Given the description of an element on the screen output the (x, y) to click on. 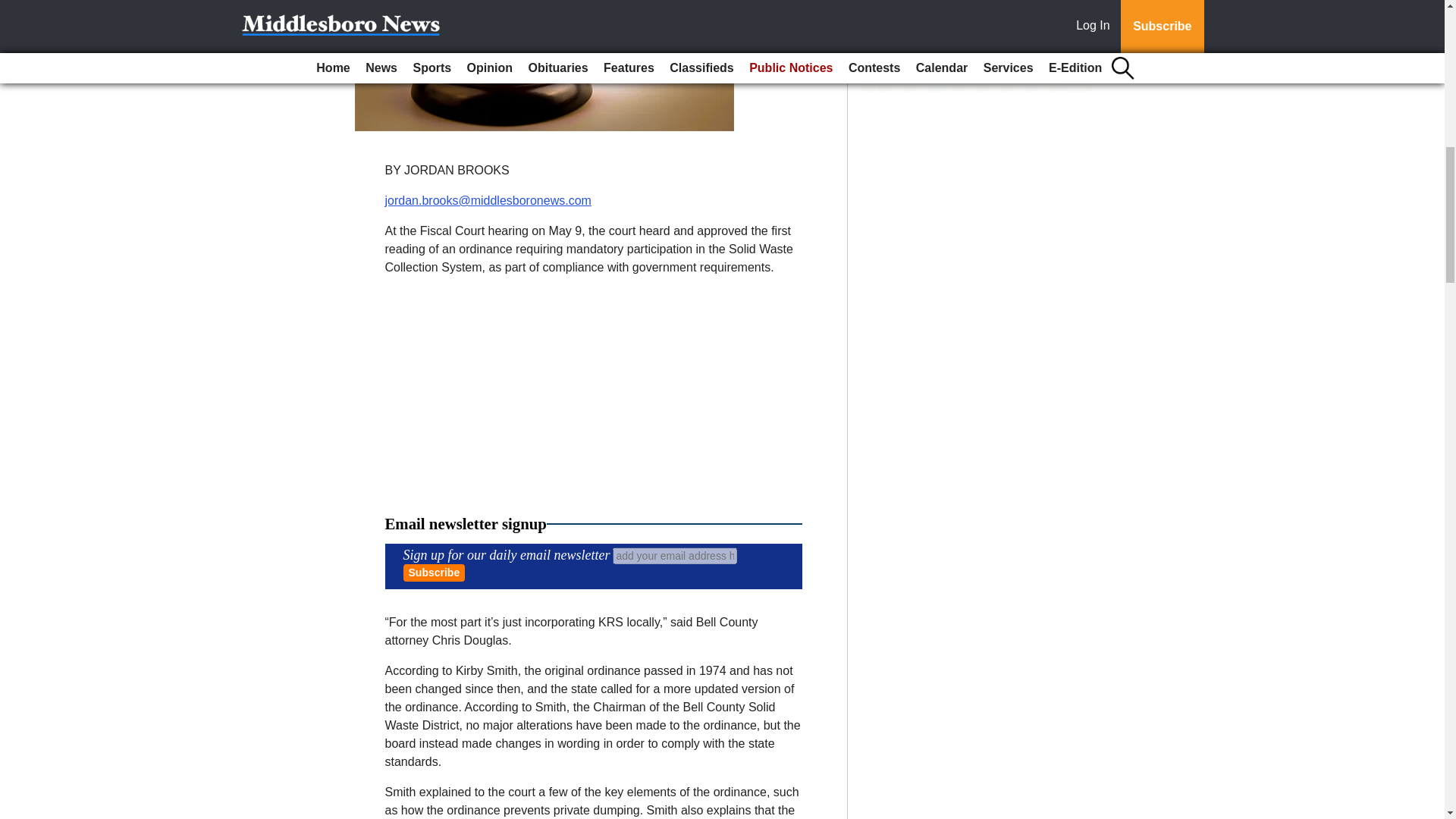
Subscribe (434, 572)
Subscribe (434, 572)
